Given the description of an element on the screen output the (x, y) to click on. 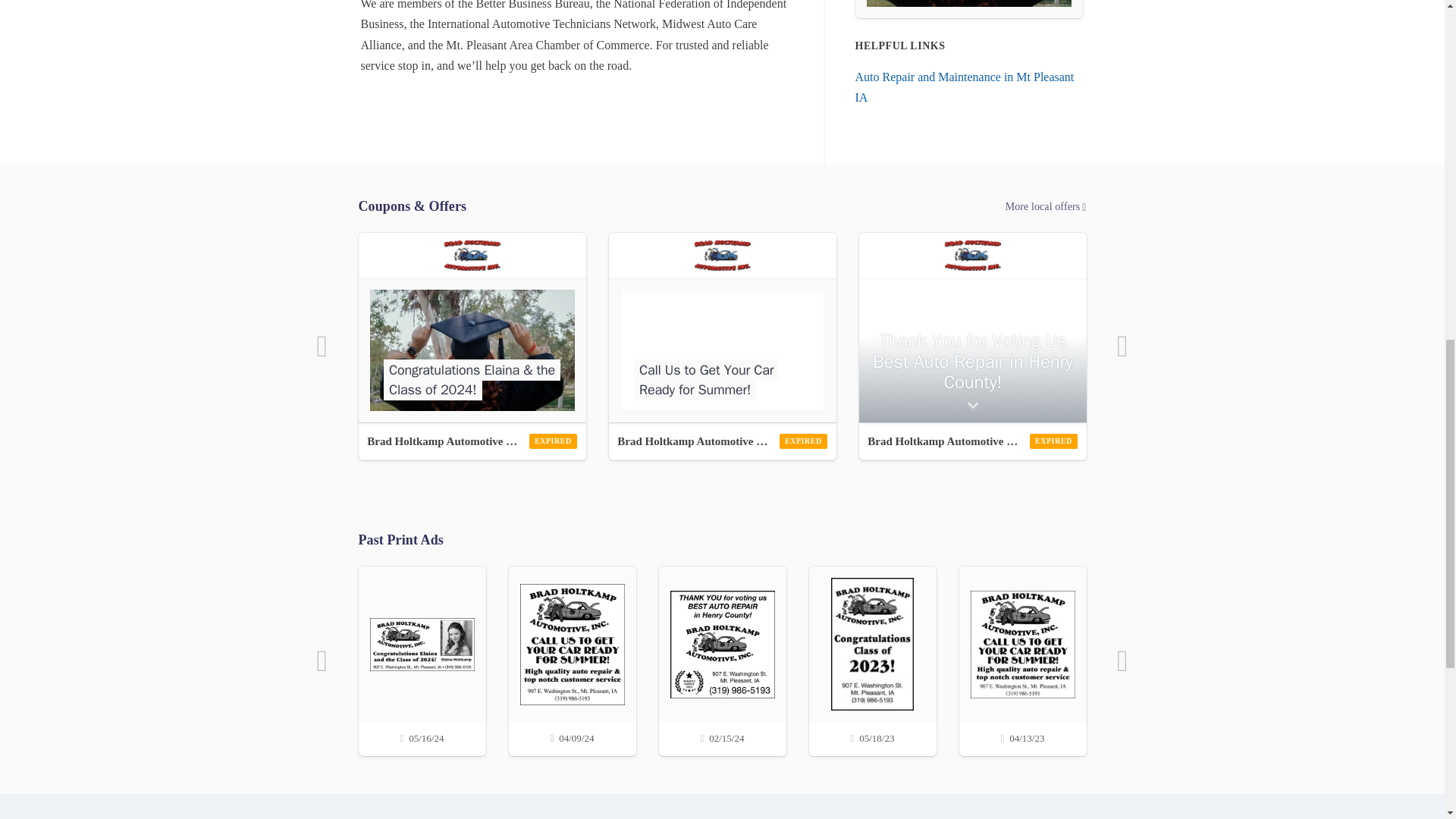
Origami Widget Number: 1933110 (972, 327)
Origami Widget Number: 1955260 (721, 327)
Brad Holtkamp Automotive Inc (972, 441)
More local offers (722, 206)
Auto Repair and Maintenance in Mt Pleasant IA (965, 87)
Origami widget number: 1975159 (969, 9)
Brad Holtkamp Automotive Inc (471, 441)
Origami Widget Number: 1975159 (471, 327)
Brad Holtkamp Automotive Inc (721, 441)
